Given the description of an element on the screen output the (x, y) to click on. 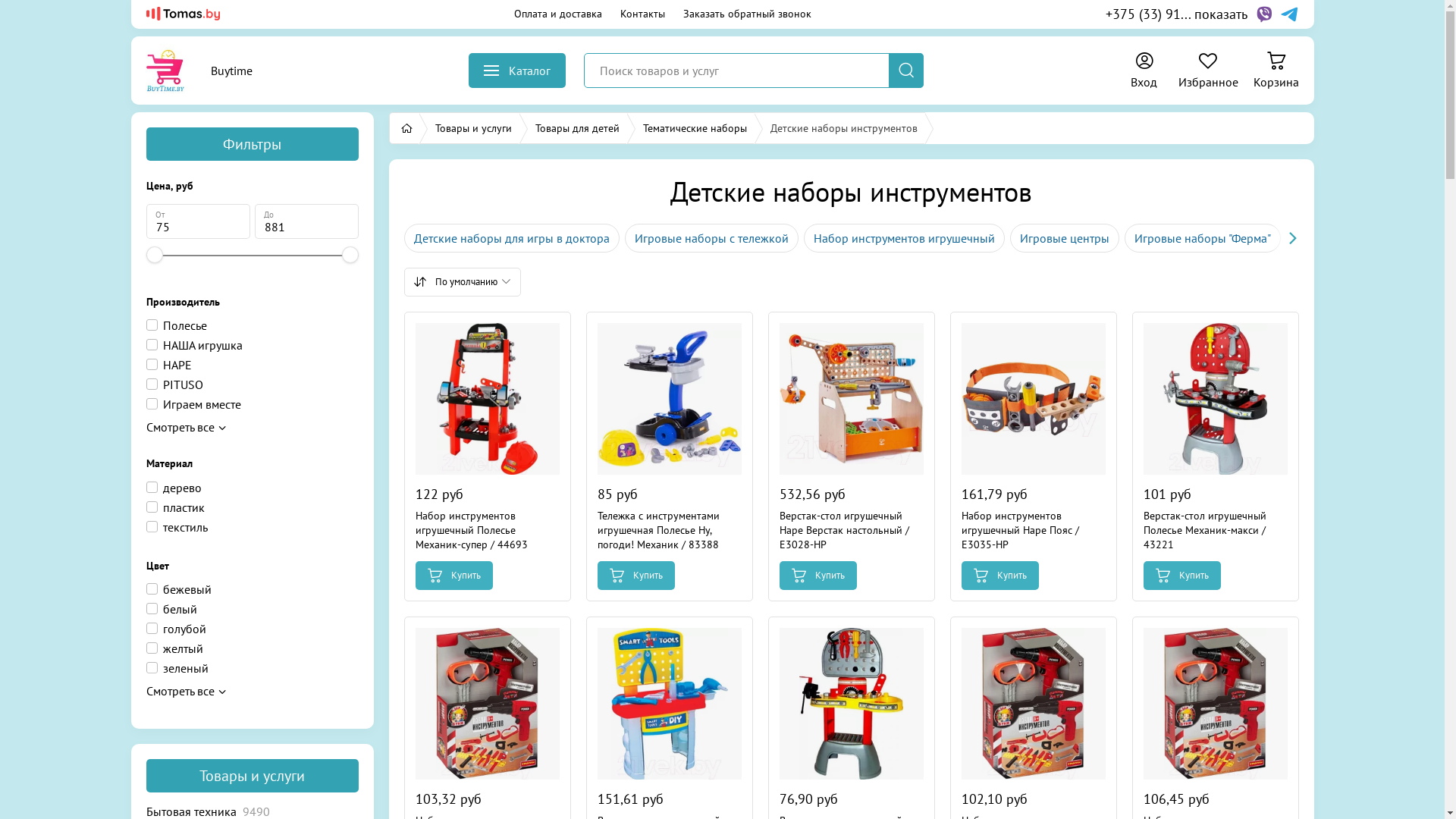
HAPE Element type: text (168, 364)
PITUSO Element type: text (173, 384)
Buytime Element type: text (190, 70)
Viber Element type: hover (1263, 14)
Telegram Element type: hover (1289, 14)
